Given the description of an element on the screen output the (x, y) to click on. 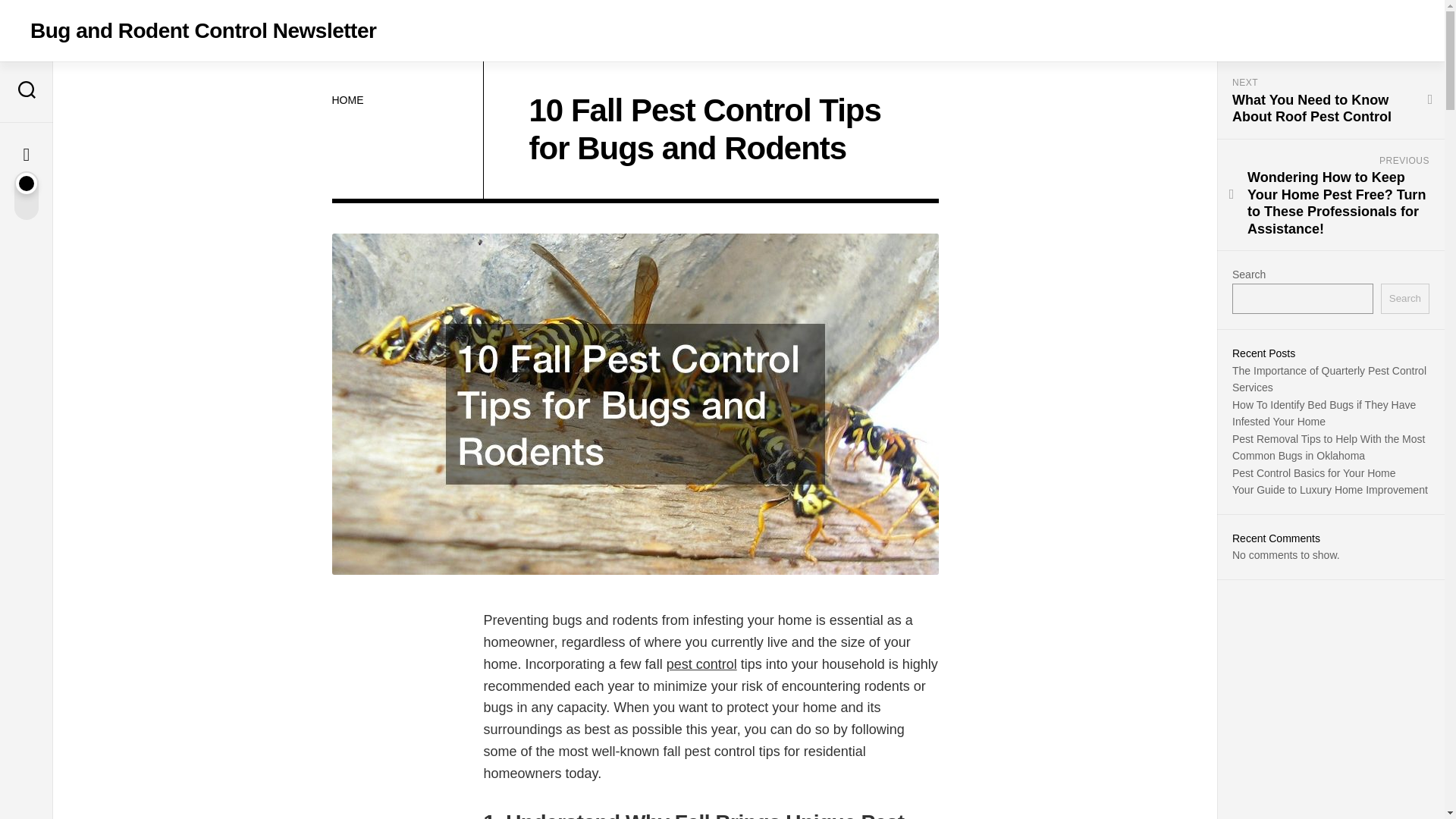
How To Identify Bed Bugs if They Have Infested Your Home (1323, 413)
pest control (701, 663)
Pest Control Basics for Your Home (1313, 472)
Search (1404, 298)
Bug and Rodent Control Newsletter (202, 31)
HOME (347, 100)
The Importance of Quarterly Pest Control Services (1328, 378)
Your Guide to Luxury Home Improvement (1329, 490)
